Given the description of an element on the screen output the (x, y) to click on. 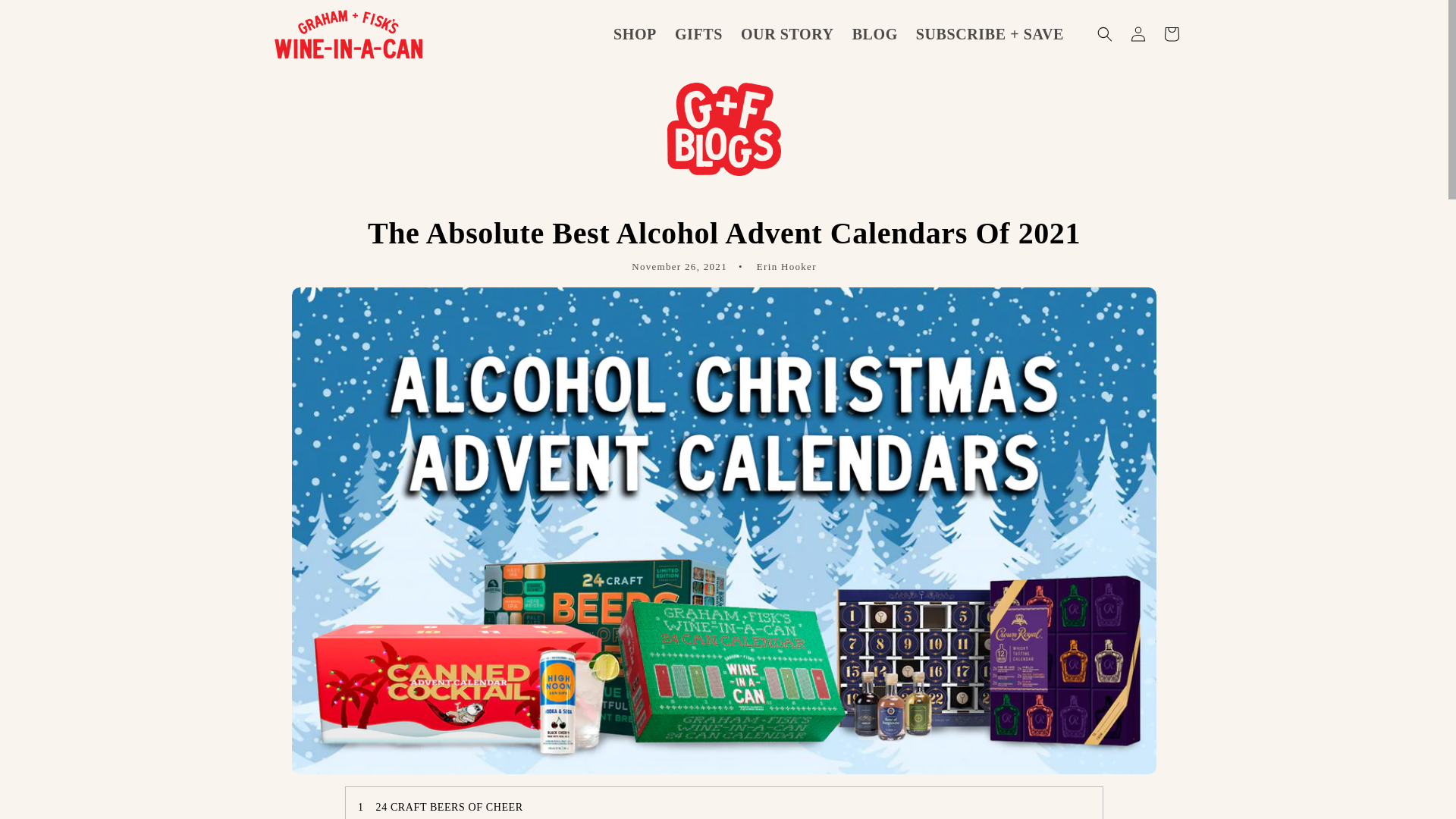
BLOG (875, 34)
SHOP (634, 34)
24 CRAFT BEERS OF CHEER  (450, 807)
Cart (1171, 32)
Log in (1137, 32)
GIFTS (698, 34)
OUR STORY (787, 34)
Skip to content (45, 17)
